Given the description of an element on the screen output the (x, y) to click on. 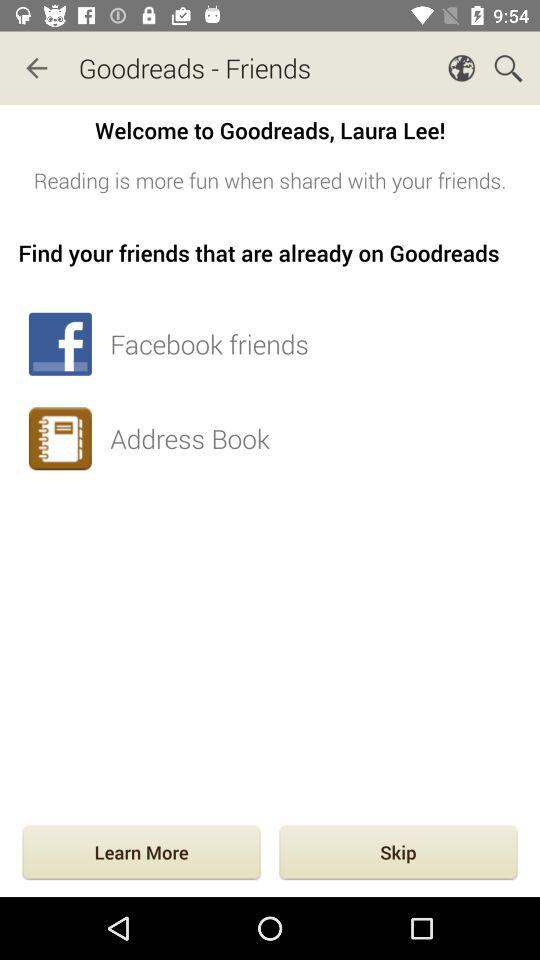
turn off item to the right of the learn more (398, 854)
